Given the description of an element on the screen output the (x, y) to click on. 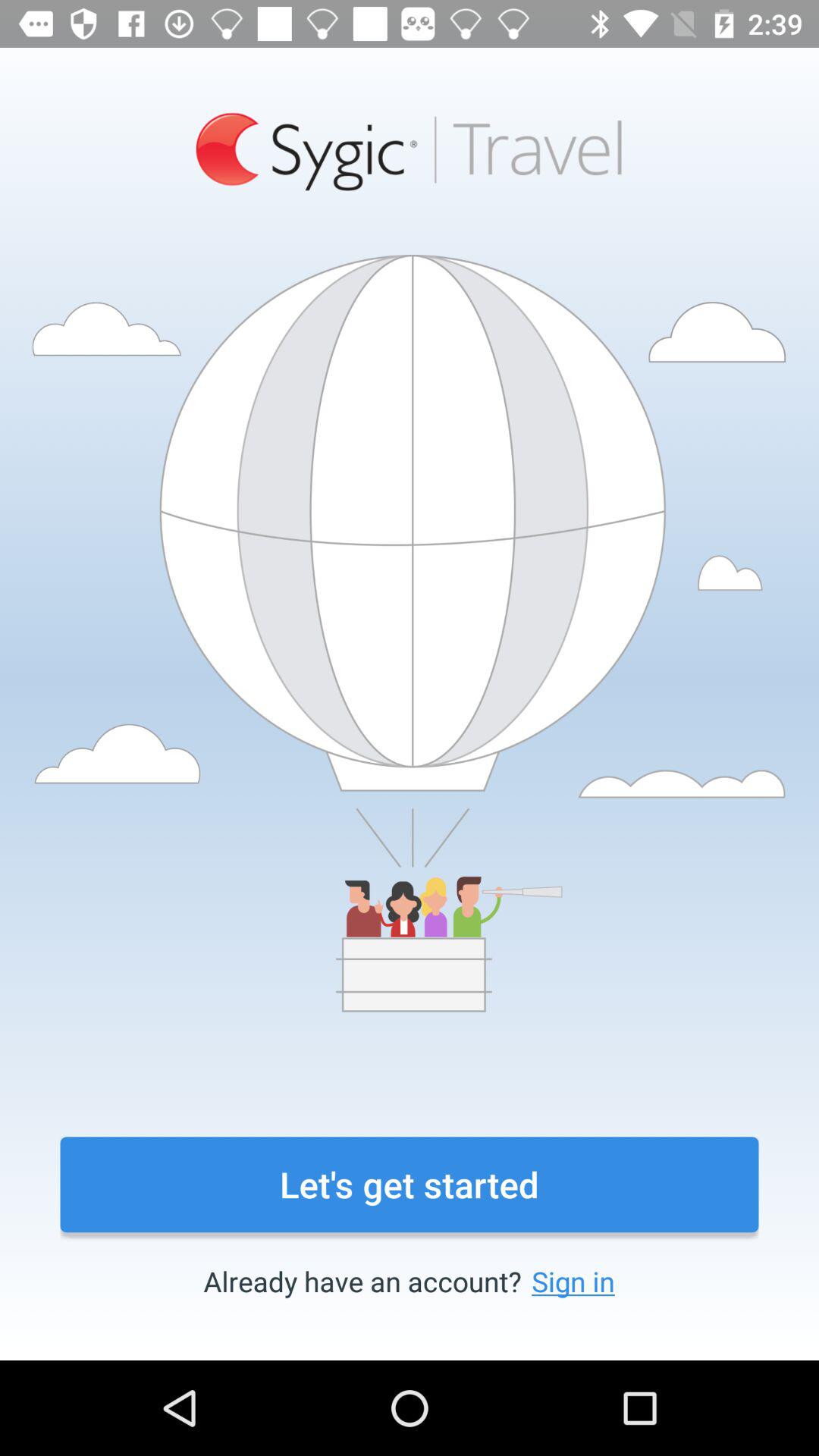
scroll to let s get item (409, 1184)
